Given the description of an element on the screen output the (x, y) to click on. 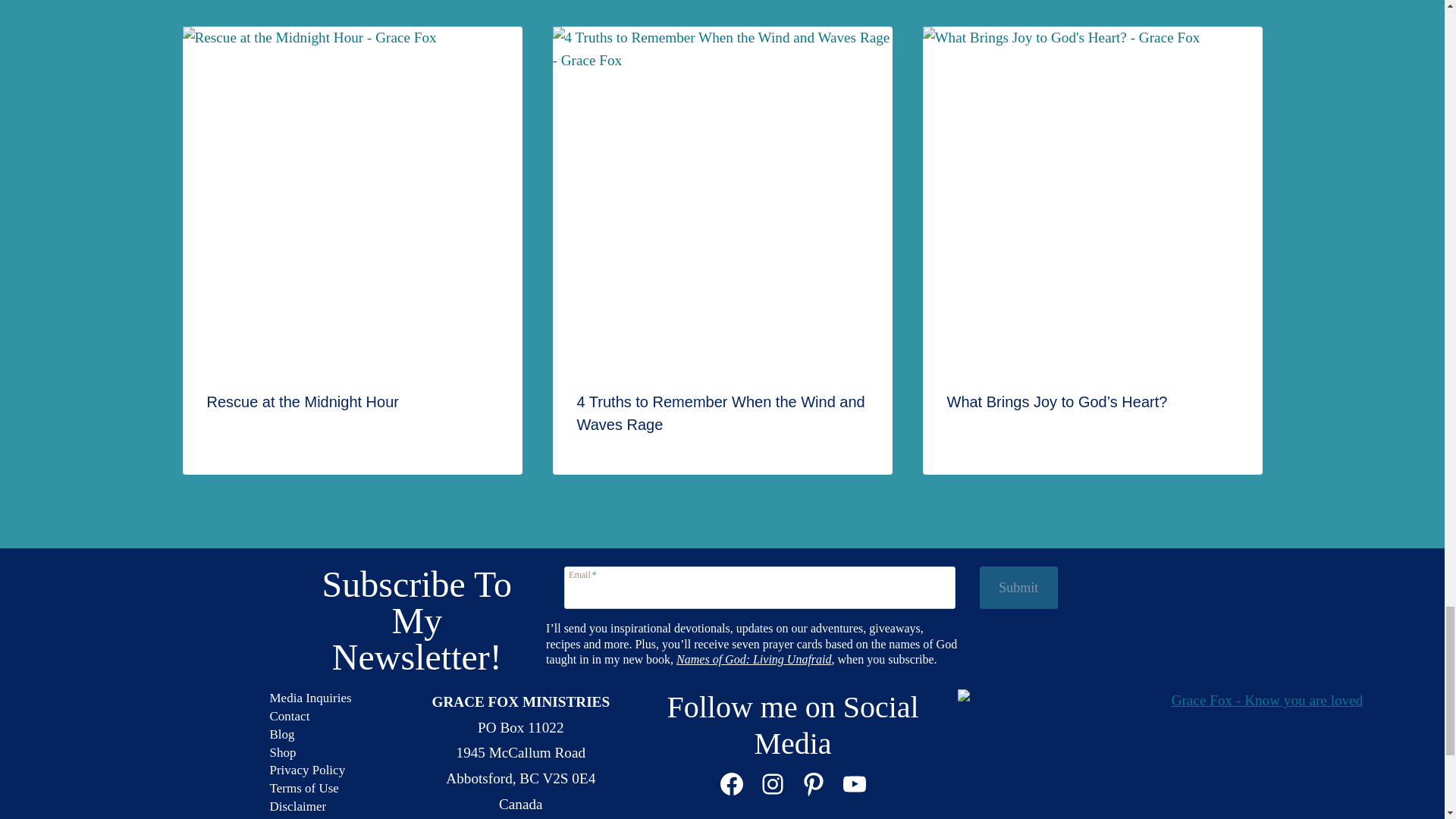
Media Inquiries for Grace Fox (310, 698)
